Given the description of an element on the screen output the (x, y) to click on. 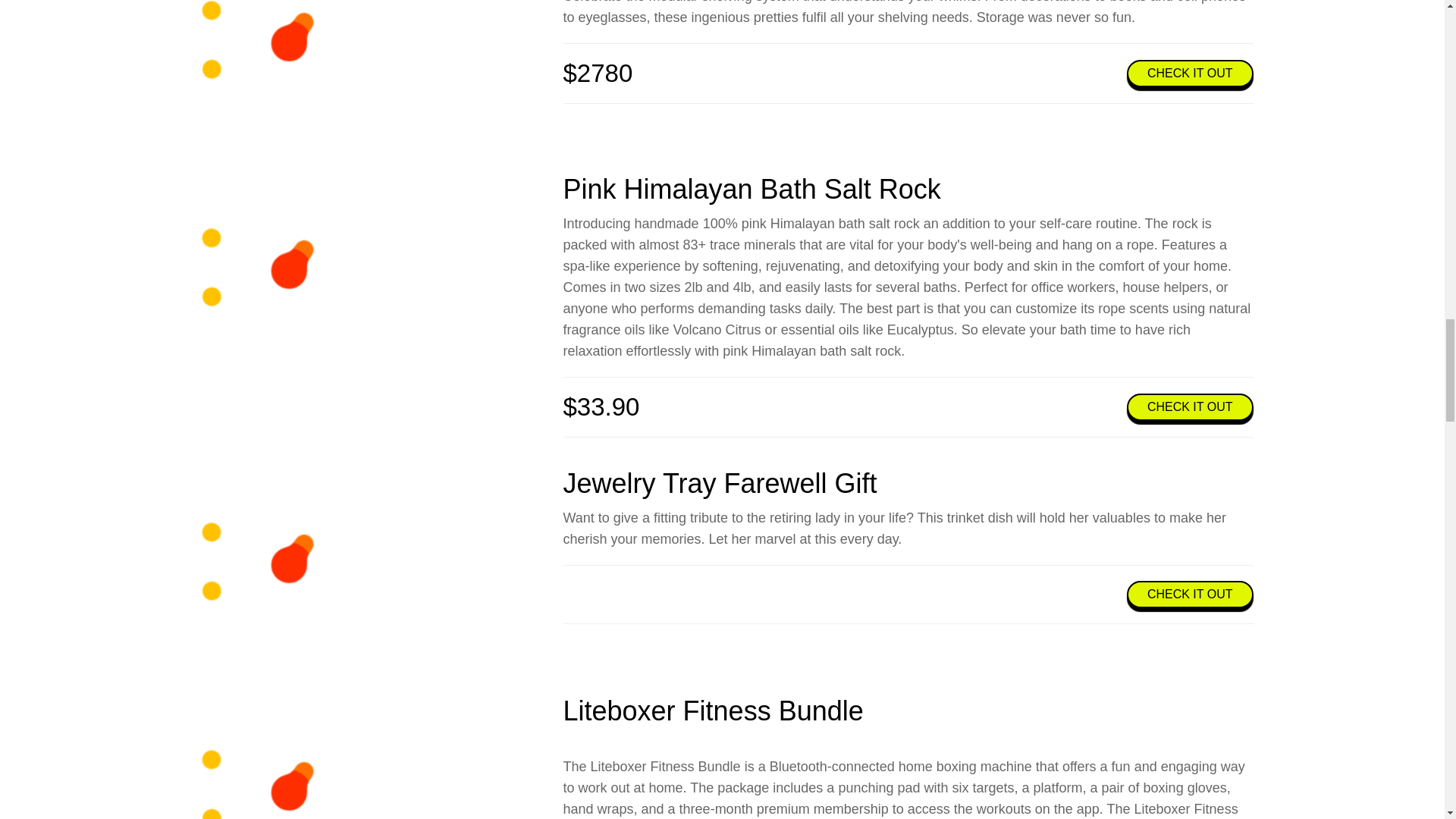
Pink Himalayan Bath Salt Rock (751, 188)
Pink Himalayan Bath Salt Rock (287, 270)
 Liteboxer Fitness Bundle (287, 757)
Jewelry Tray Farewell Gift (287, 564)
Jewelry Tray Farewell Gift (719, 482)
PINPRES WALL (287, 70)
Liteboxer Fitness Bundle (712, 710)
